Given the description of an element on the screen output the (x, y) to click on. 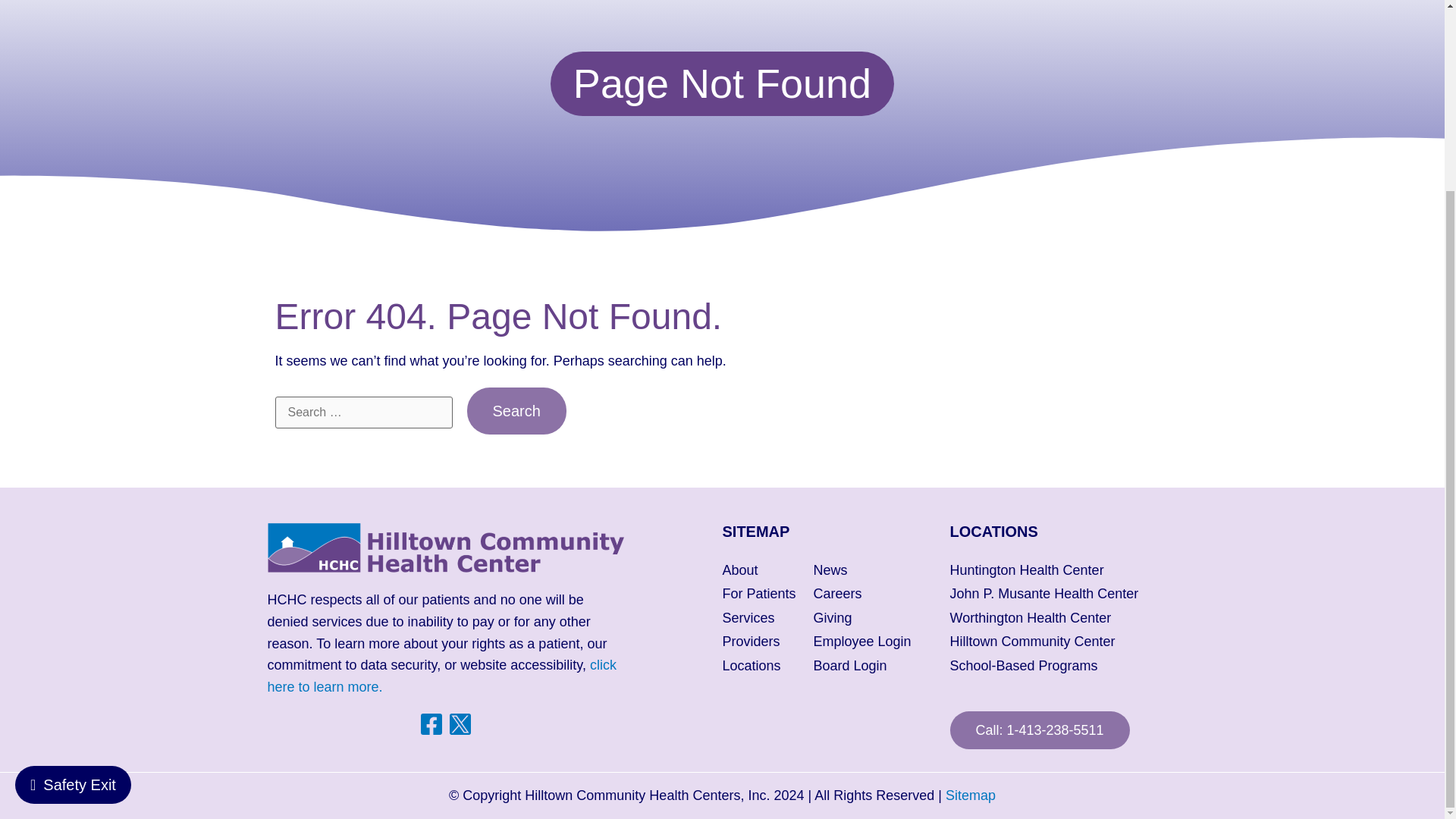
Search (516, 410)
Search (516, 410)
Safety Exit (72, 546)
